Given the description of an element on the screen output the (x, y) to click on. 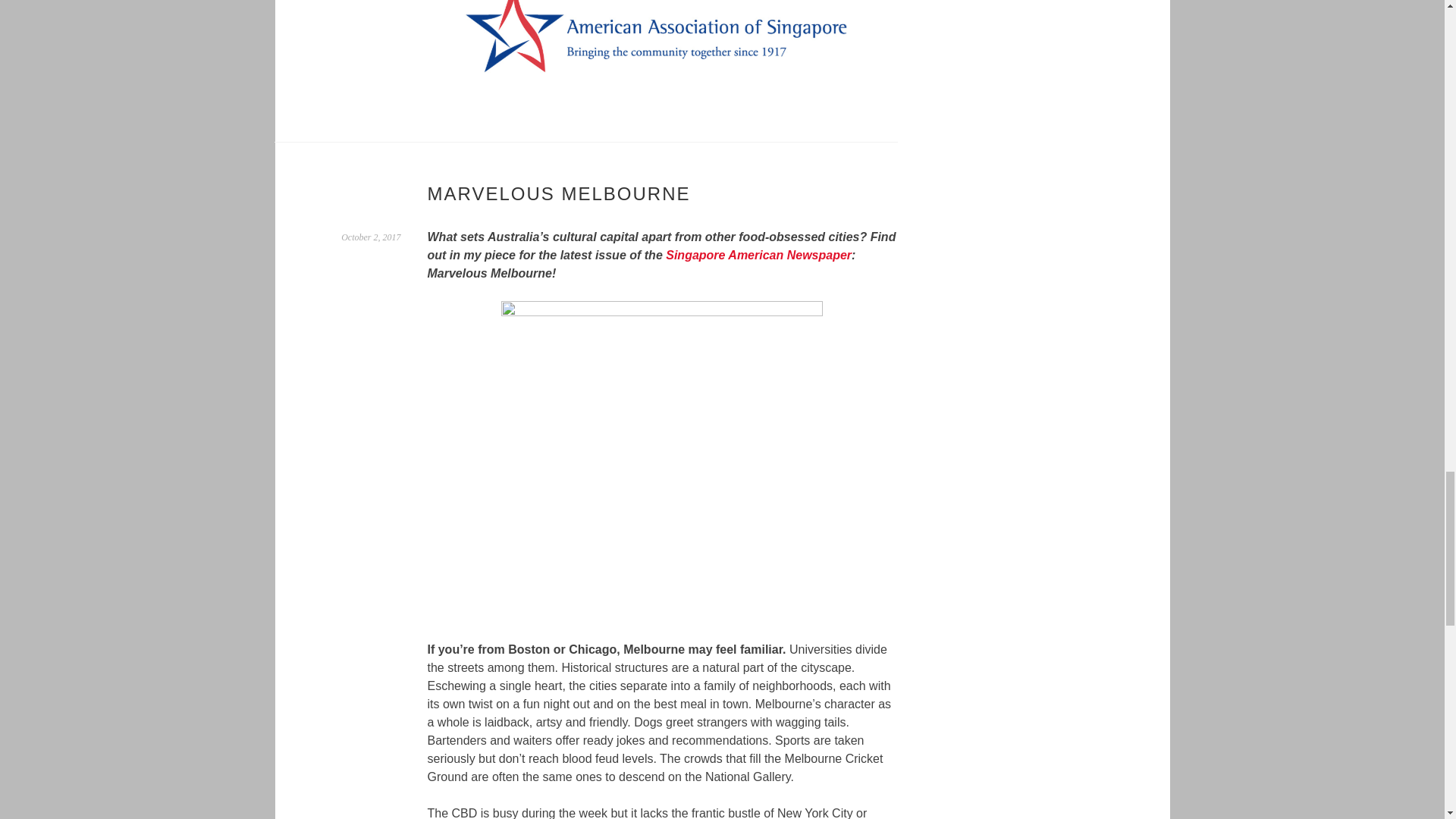
October 2, 2017 (370, 236)
Singapore American Newspaper (758, 254)
Permalink to Marvelous Melbourne (370, 236)
MARVELOUS MELBOURNE (559, 193)
Singapore American Newspaper (758, 254)
